Given the description of an element on the screen output the (x, y) to click on. 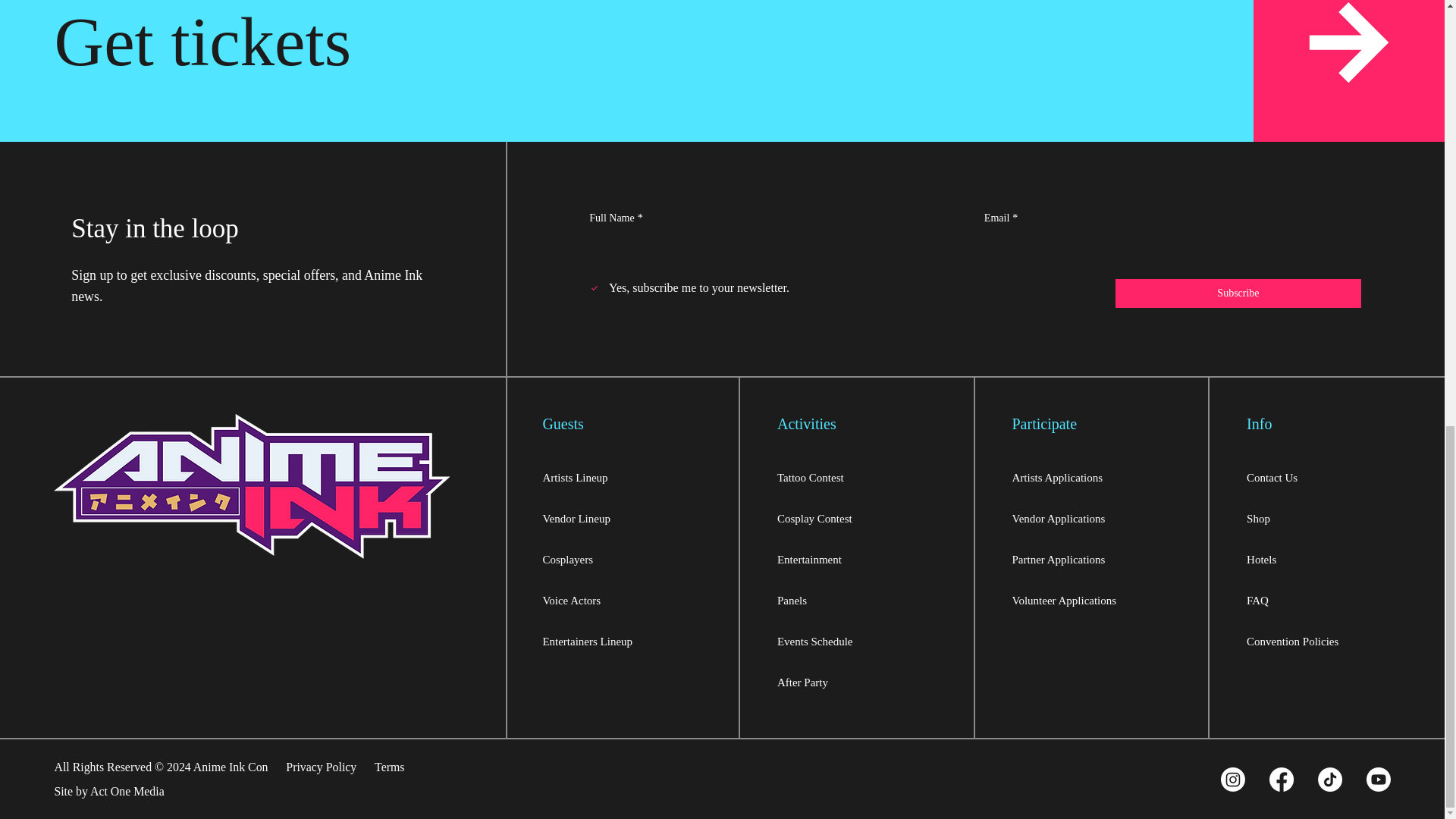
Subscribe (1237, 293)
Cosplay Contest (858, 517)
Panels (858, 599)
Events Schedule (858, 640)
Vendor Lineup (622, 517)
Privacy Policy (320, 766)
Cosplayers (622, 558)
After Party (858, 681)
Tattoo Contest (858, 477)
